Given the description of an element on the screen output the (x, y) to click on. 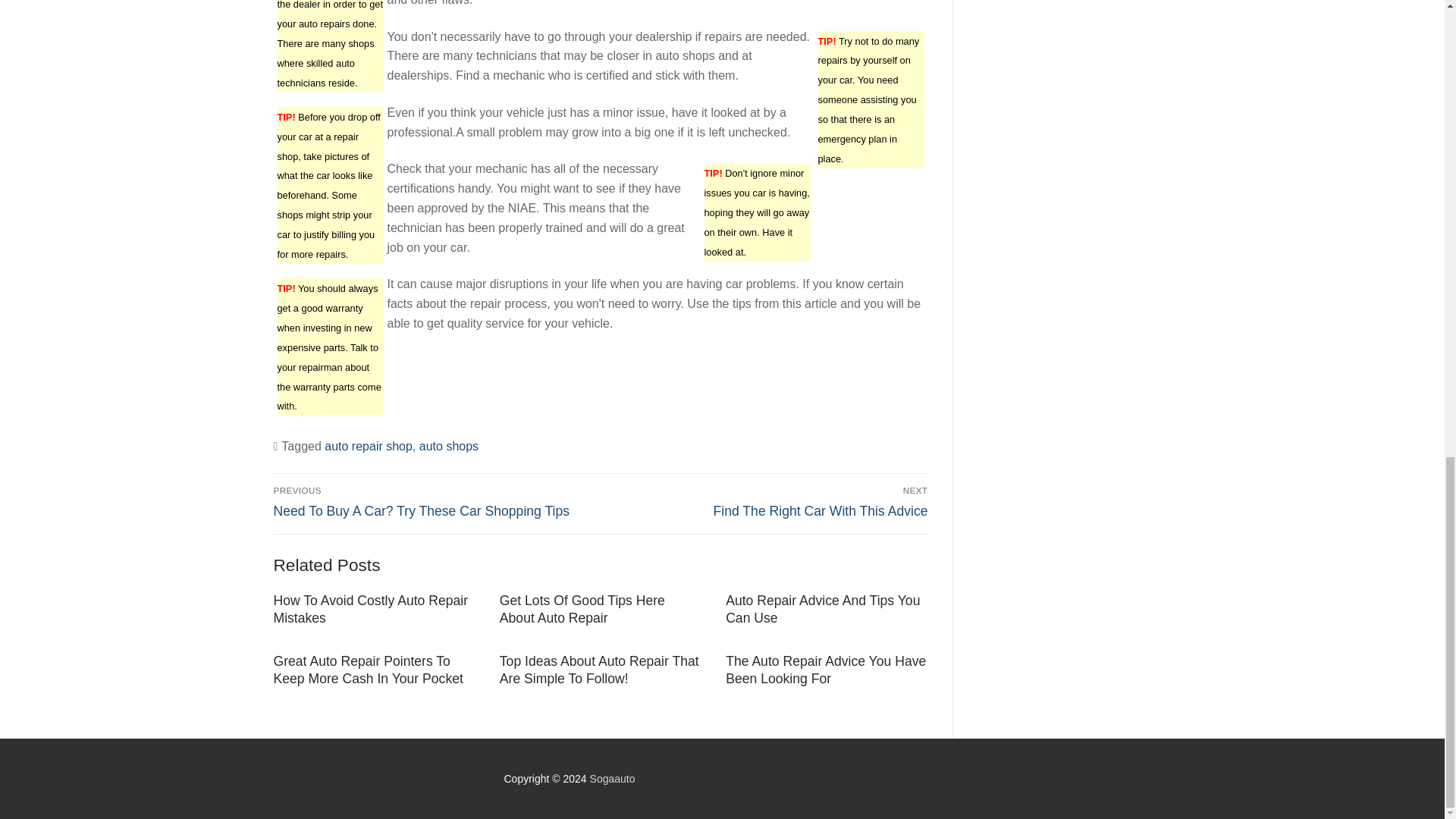
Great Auto Repair Pointers To Keep More Cash In Your Pocket (368, 669)
Top Ideas About Auto Repair That Are Simple To Follow! (598, 669)
Great Auto Repair Pointers To Keep More Cash In Your Pocket (368, 669)
How To Avoid Costly Auto Repair Mistakes (370, 608)
Auto Repair Advice And Tips You Can Use (822, 608)
The Auto Repair Advice You Have Been Looking For (825, 669)
Get Lots Of Good Tips Here About Auto Repair (582, 608)
The Auto Repair Advice You Have Been Looking For (767, 501)
